Given the description of an element on the screen output the (x, y) to click on. 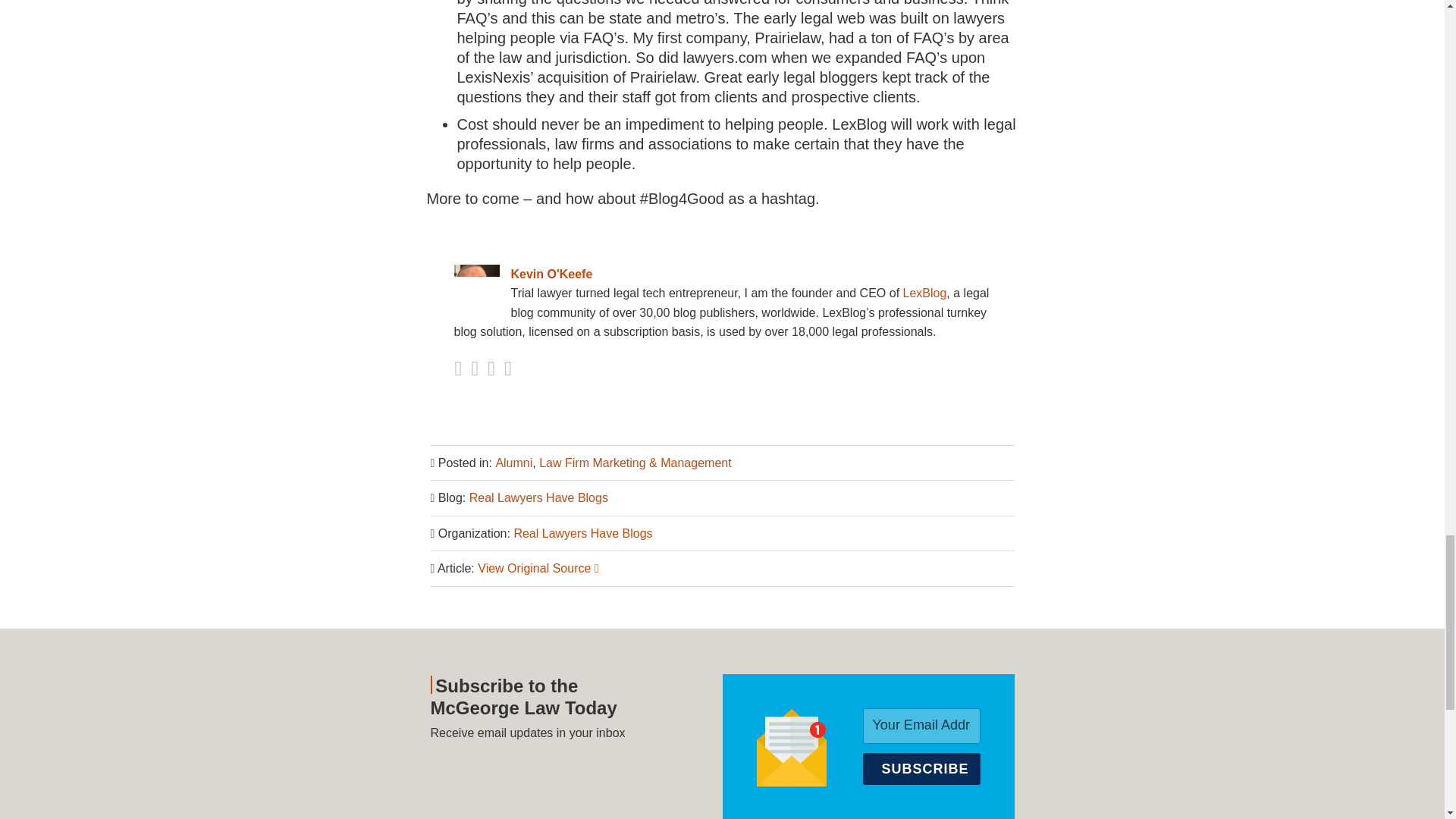
LexBlog (924, 292)
View Original Source (537, 567)
Real Lawyers Have Blogs (538, 497)
SUBSCRIBE (921, 768)
Kevin O'Keefe (721, 274)
SUBSCRIBE (921, 768)
Real Lawyers Have Blogs (582, 533)
Alumni (513, 462)
